Given the description of an element on the screen output the (x, y) to click on. 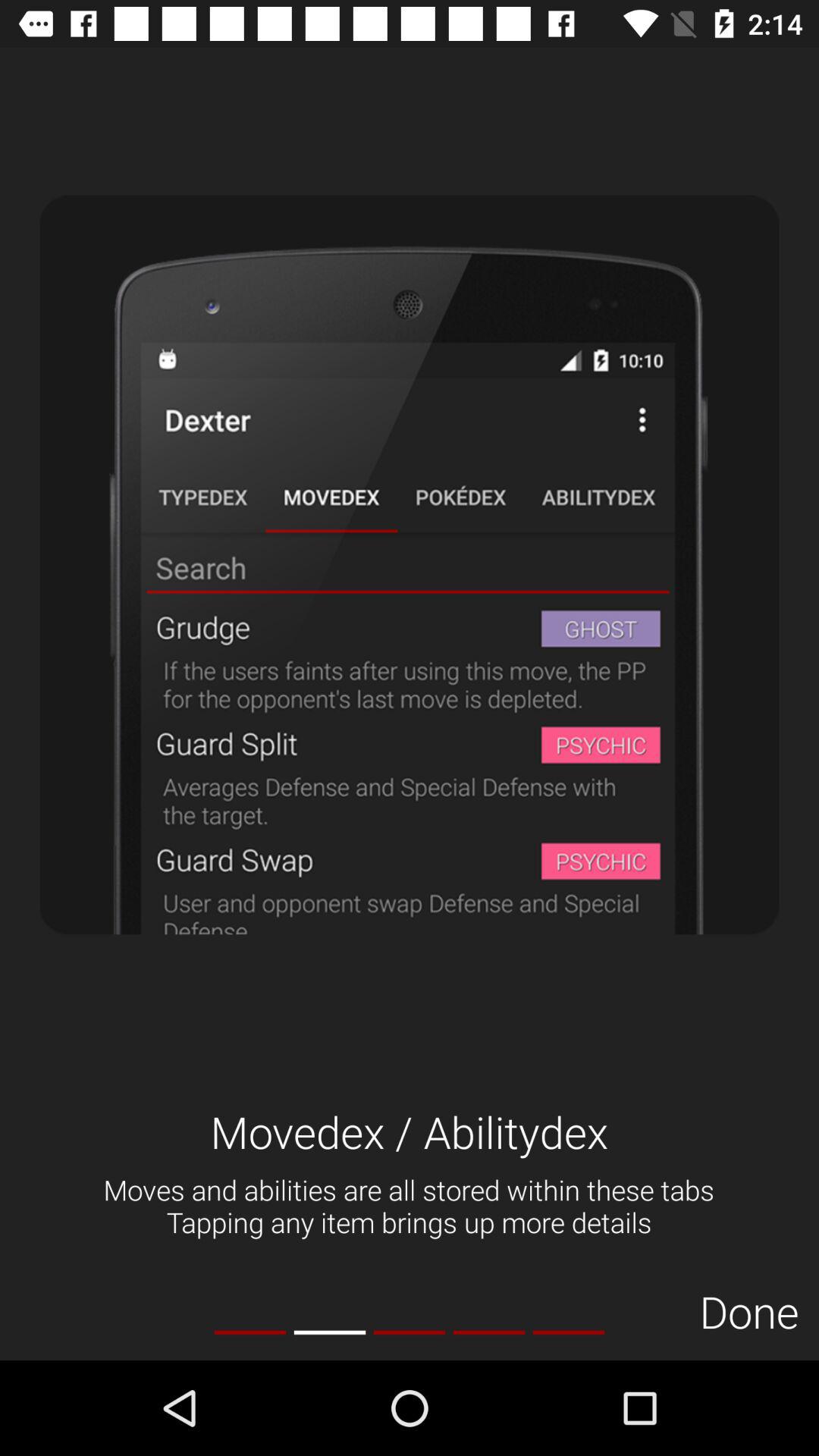
open icon below moves and abilities icon (488, 1332)
